Given the description of an element on the screen output the (x, y) to click on. 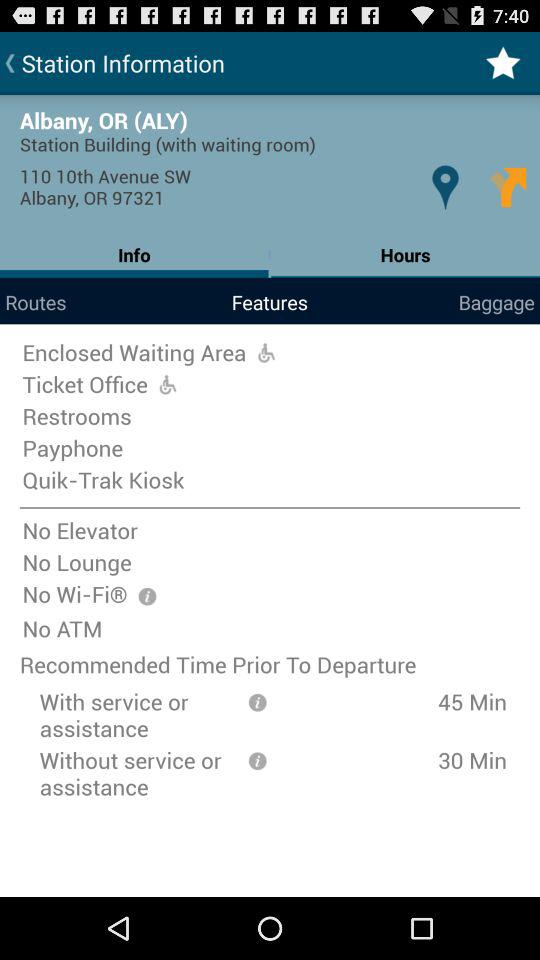
expand information tab (257, 759)
